Given the description of an element on the screen output the (x, y) to click on. 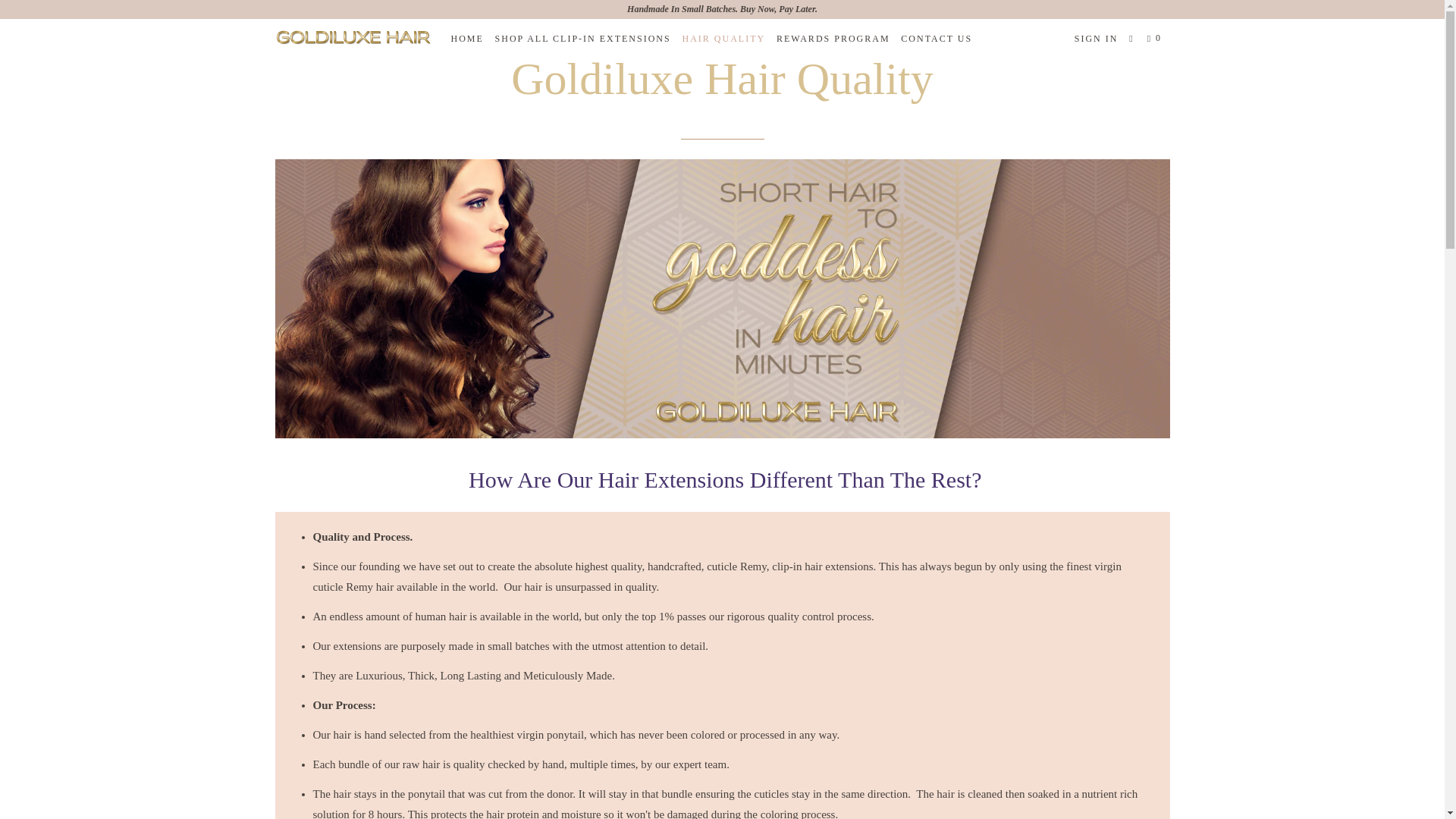
SIGN IN (1096, 38)
SHOP ALL CLIP-IN EXTENSIONS (583, 38)
CONTACT US (936, 38)
HAIR QUALITY (723, 38)
0 (1155, 38)
REWARDS PROGRAM (833, 38)
GOLDILUXE HAIR (352, 37)
HOME (466, 38)
My Account  (1096, 38)
